Given the description of an element on the screen output the (x, y) to click on. 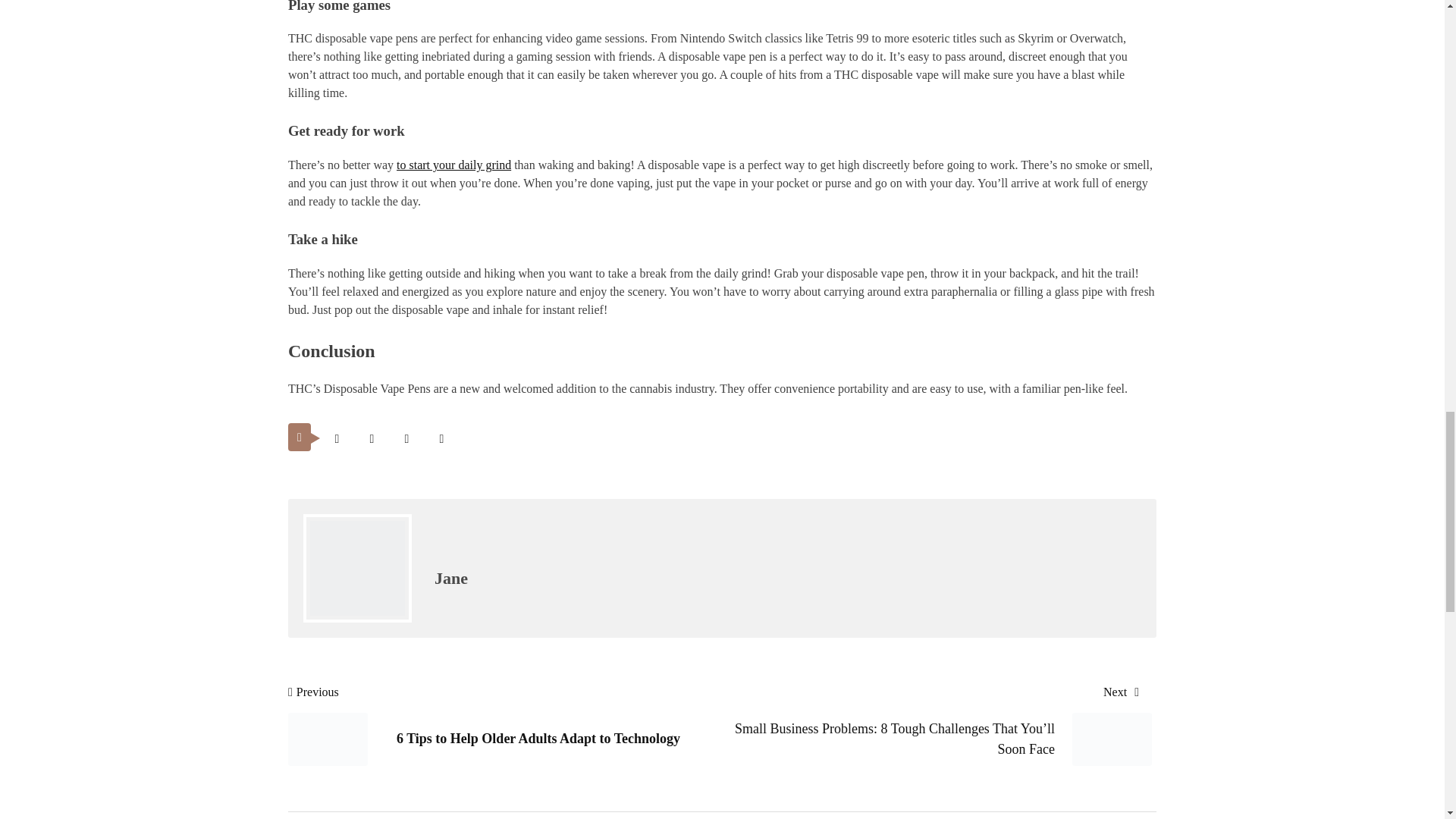
Share on Facebook (371, 438)
Tweet This! (336, 438)
Share on Pinterest (406, 438)
Share on Linkedin (441, 438)
